Given the description of an element on the screen output the (x, y) to click on. 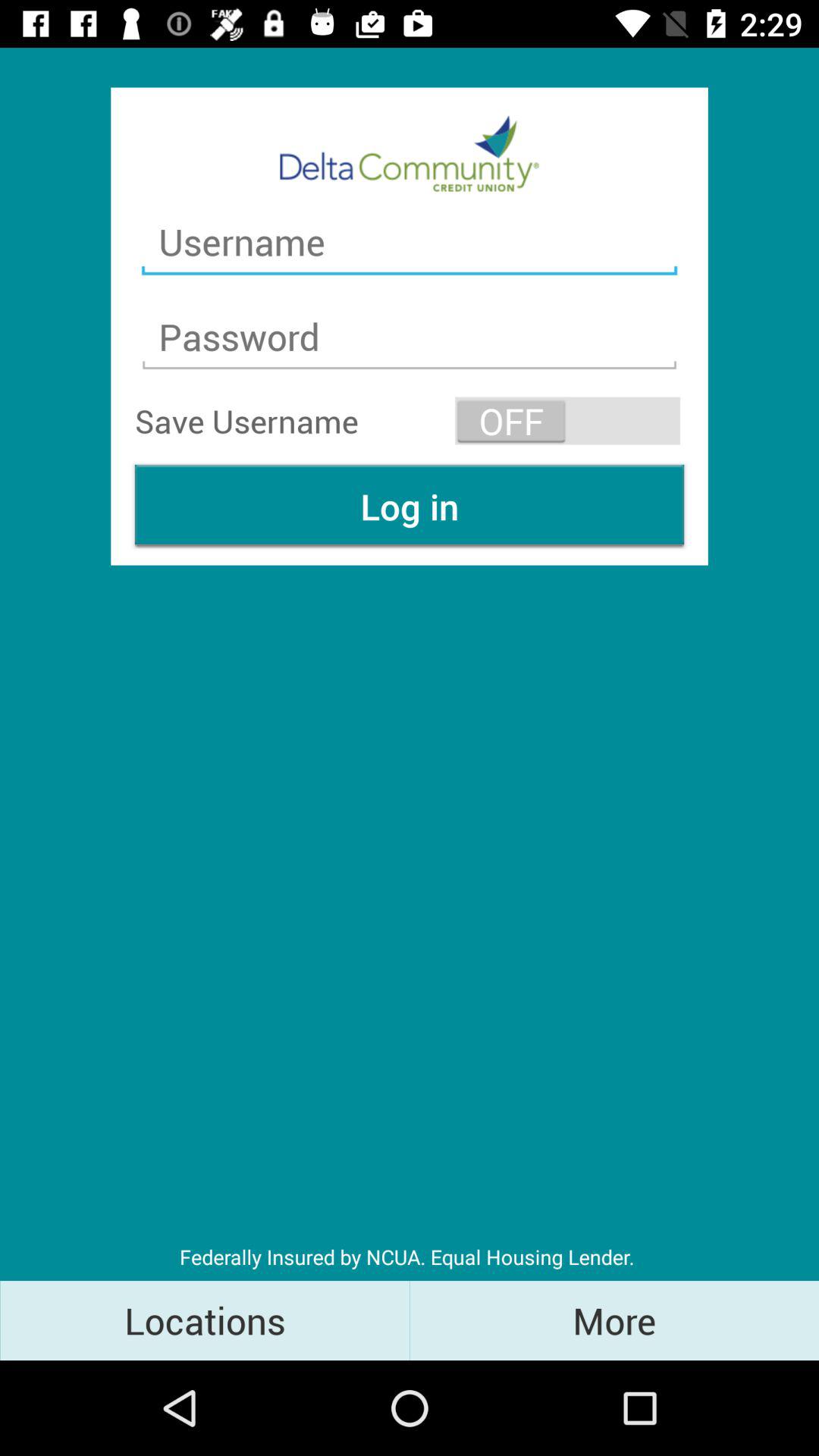
choose the item above the federally insured by icon (409, 506)
